Given the description of an element on the screen output the (x, y) to click on. 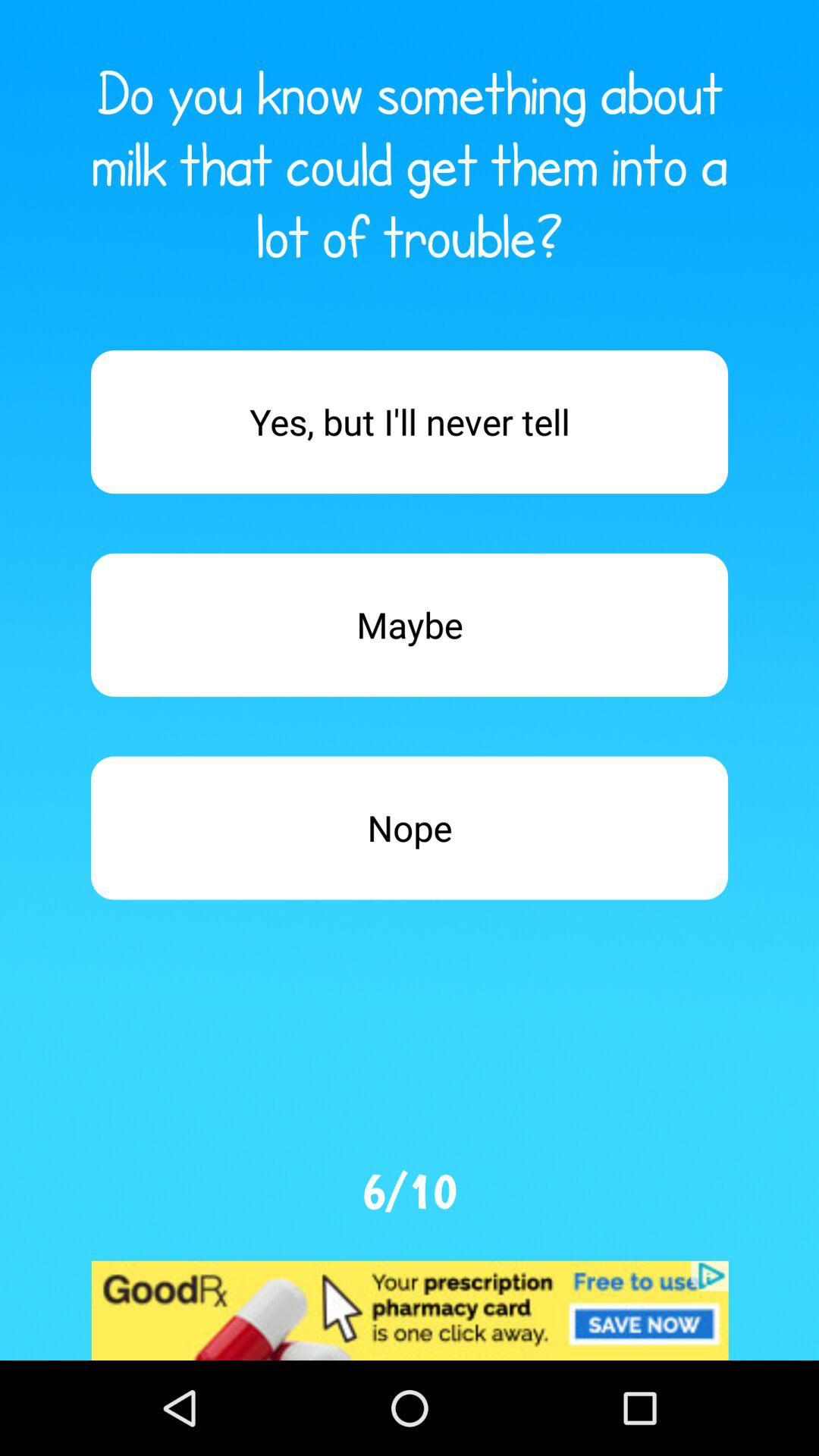
go to advertised company (409, 1310)
